Given the description of an element on the screen output the (x, y) to click on. 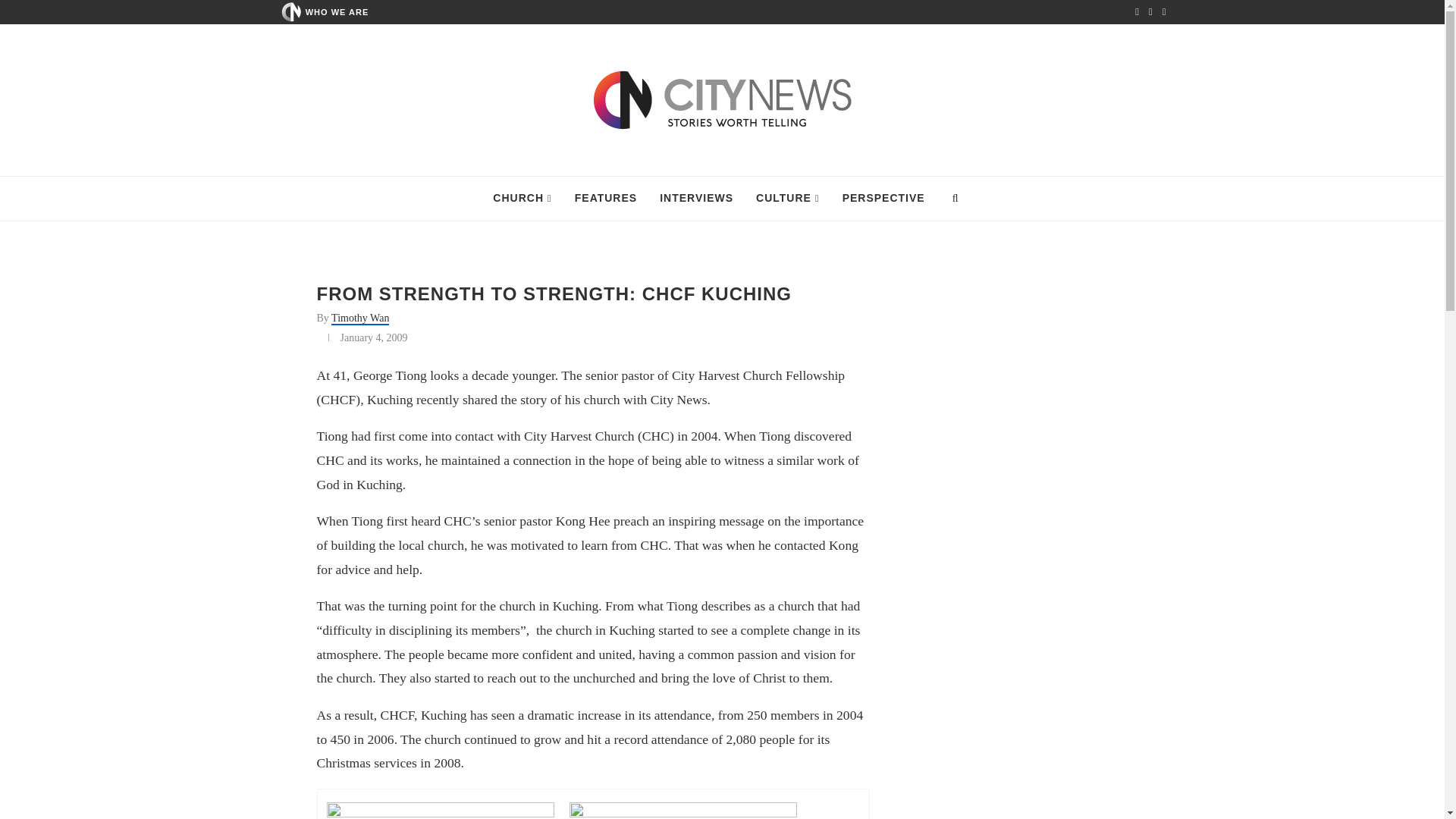
Posts by Timothy Wan (359, 318)
Timothy Wan (359, 318)
WHO WE ARE (337, 11)
CULTURE (787, 198)
PERSPECTIVE (883, 198)
City Harvest, Kuching (682, 810)
City Harvest, Kuching (439, 810)
FEATURES (605, 198)
CHURCH (521, 198)
INTERVIEWS (695, 198)
